Given the description of an element on the screen output the (x, y) to click on. 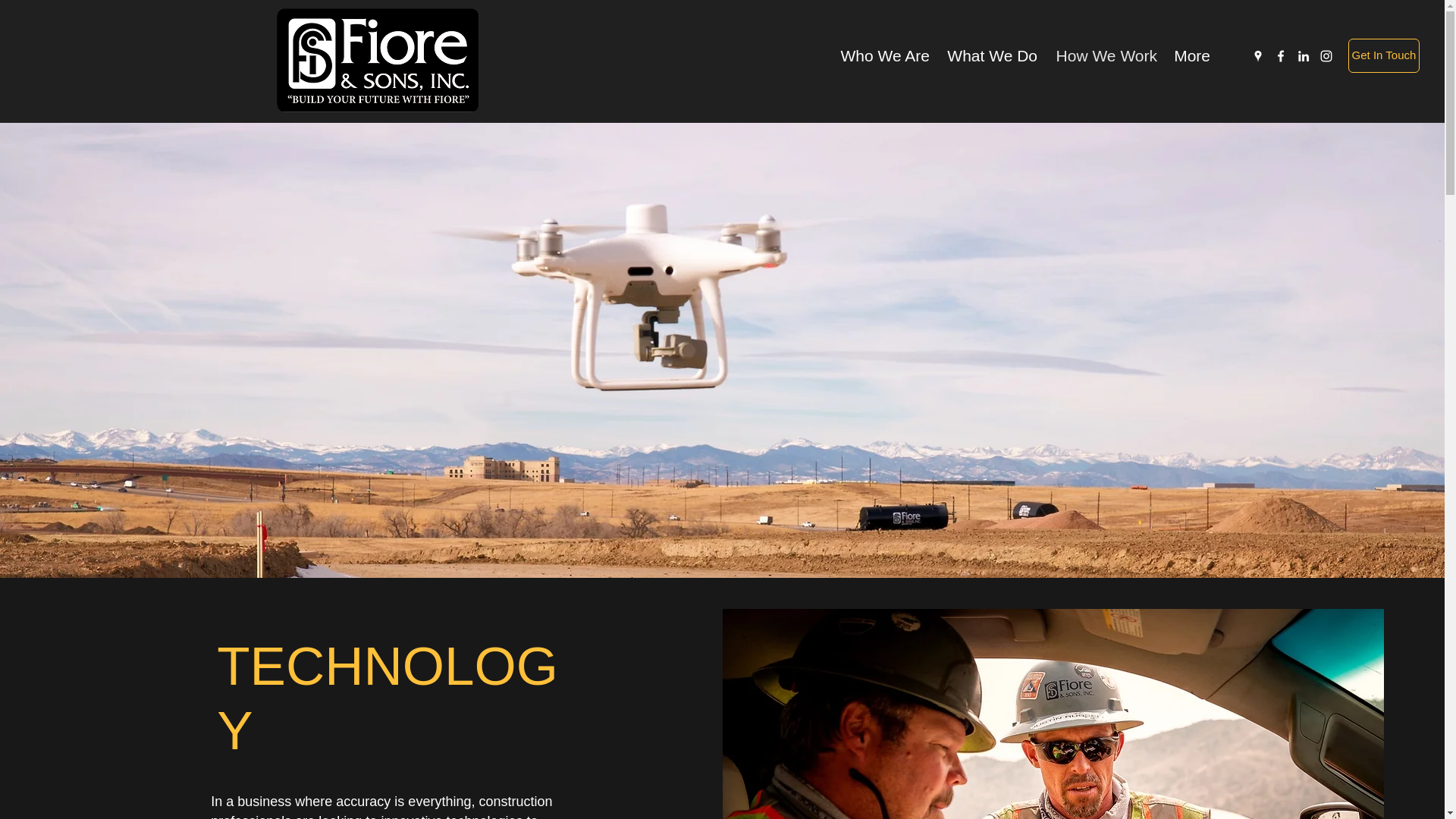
Who We Are (883, 55)
Get In Touch (1383, 55)
How We Work (1104, 55)
What We Do (991, 55)
